Given the description of an element on the screen output the (x, y) to click on. 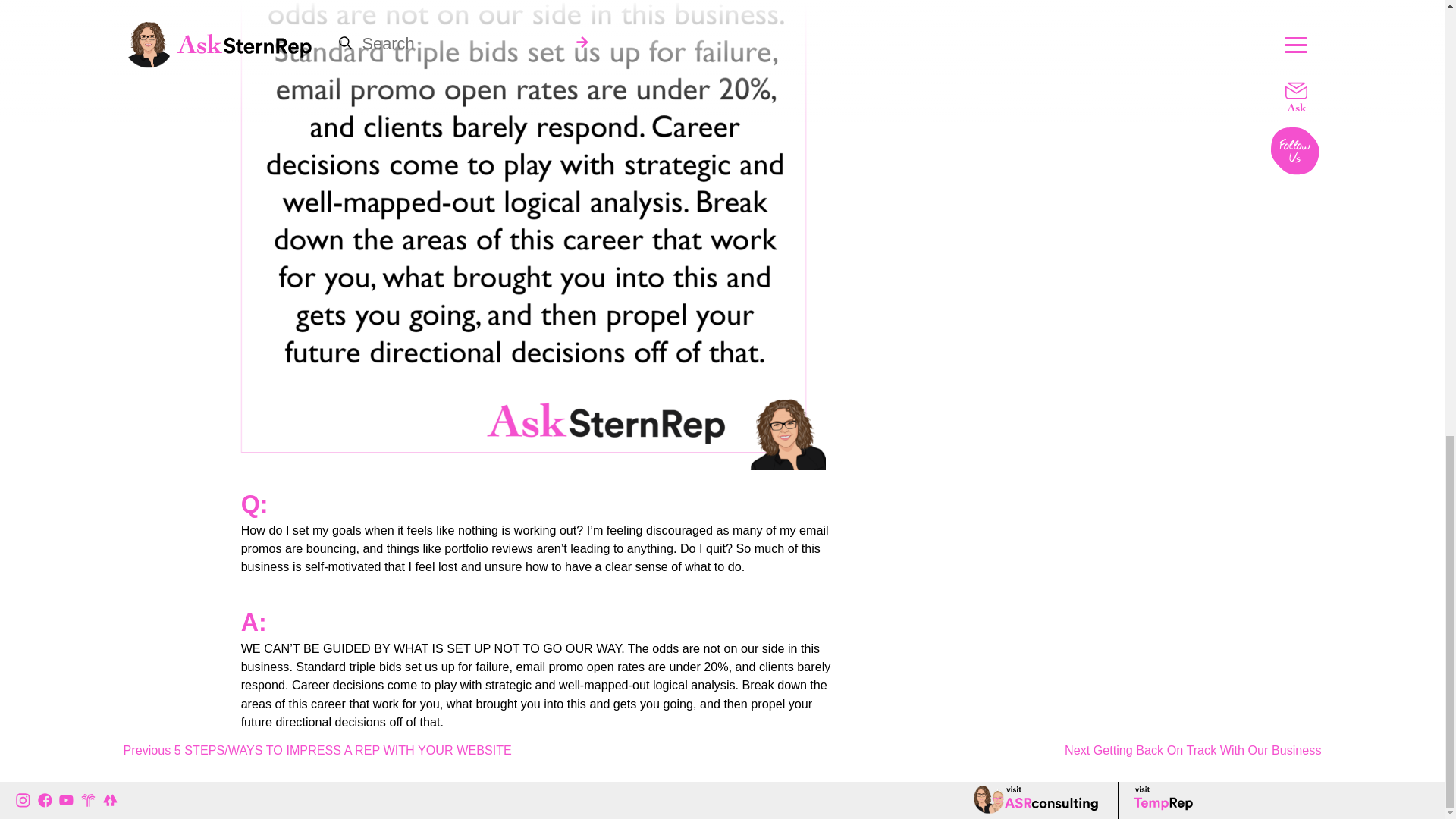
Next Getting Back On Track With Our Business (1193, 749)
